Given the description of an element on the screen output the (x, y) to click on. 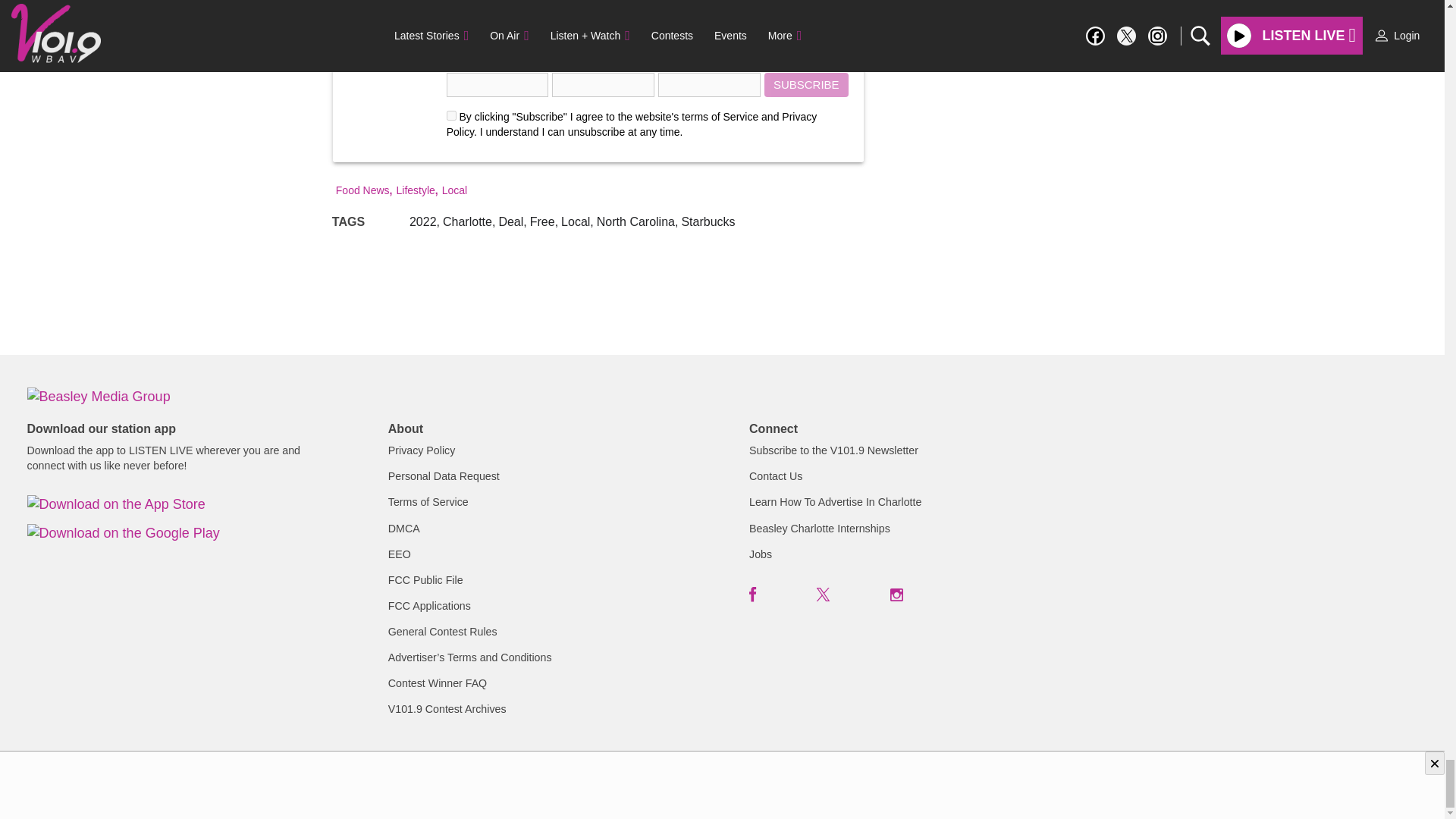
Twitter (823, 594)
on (451, 115)
Instagram (895, 594)
